Given the description of an element on the screen output the (x, y) to click on. 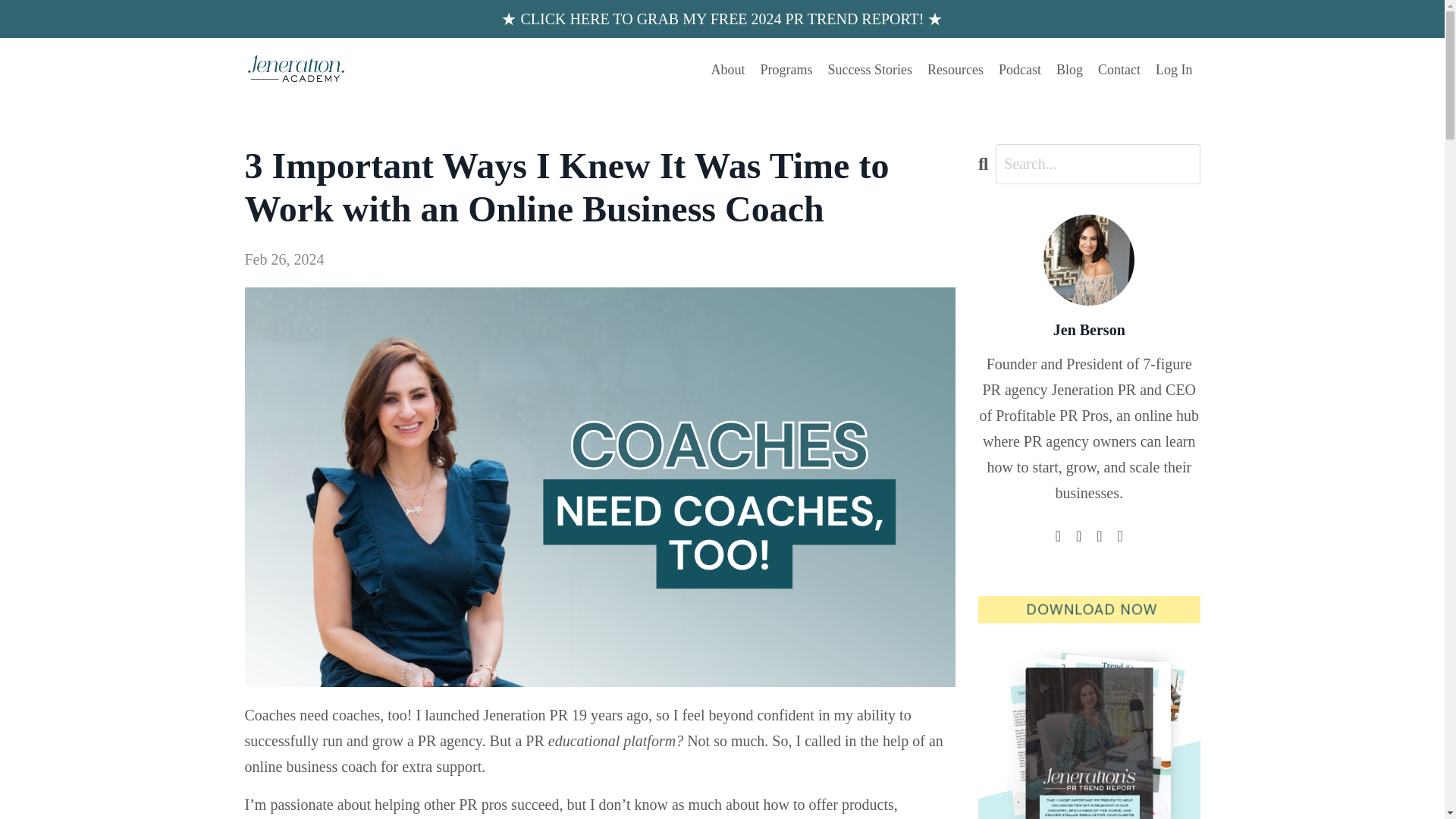
Resources (955, 69)
Success Stories (870, 69)
Podcast (1019, 69)
About (728, 69)
Contact (1118, 69)
Programs (786, 69)
Log In (1174, 69)
Blog (1070, 69)
